Given the description of an element on the screen output the (x, y) to click on. 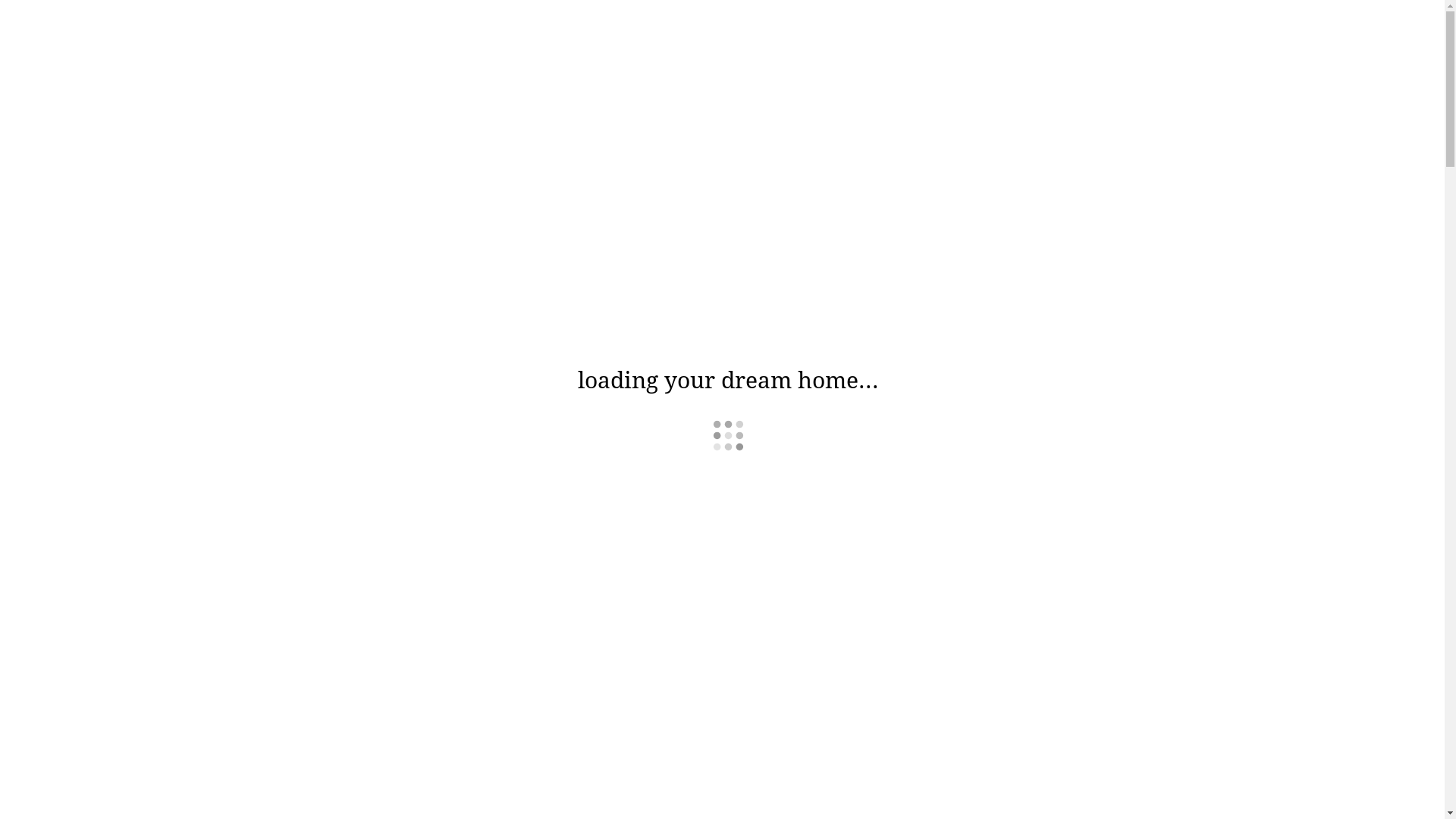
LOCATION Element type: text (70, 98)
Toggle navigation Element type: text (10, 32)
FEATURES Element type: text (70, 83)
1424 Harker Avenue Element type: text (118, 28)
SCHEDULE & CONTACT Element type: text (100, 113)
1424 HARKER AVENUE Element type: text (722, 682)
GALLERY Element type: text (66, 68)
